Given the description of an element on the screen output the (x, y) to click on. 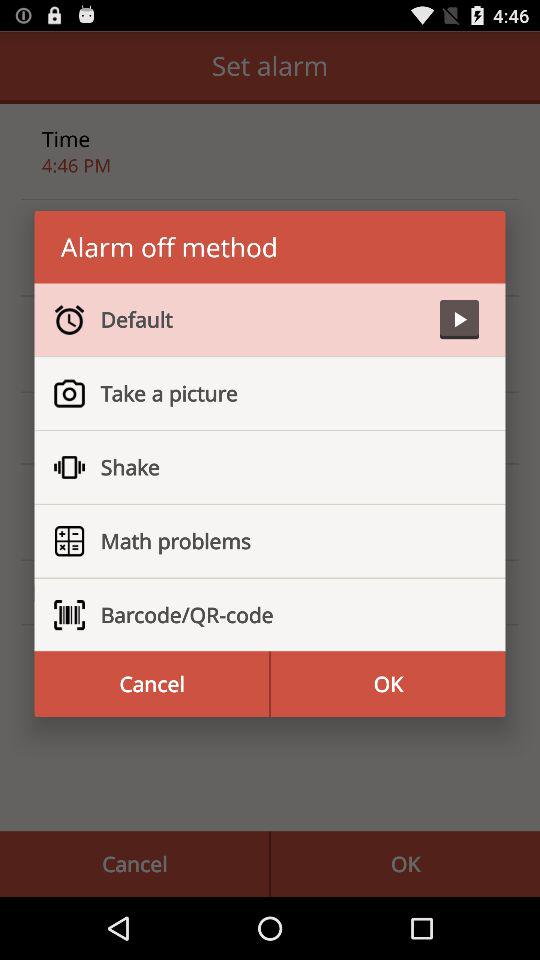
play default alarm sound (459, 319)
